Given the description of an element on the screen output the (x, y) to click on. 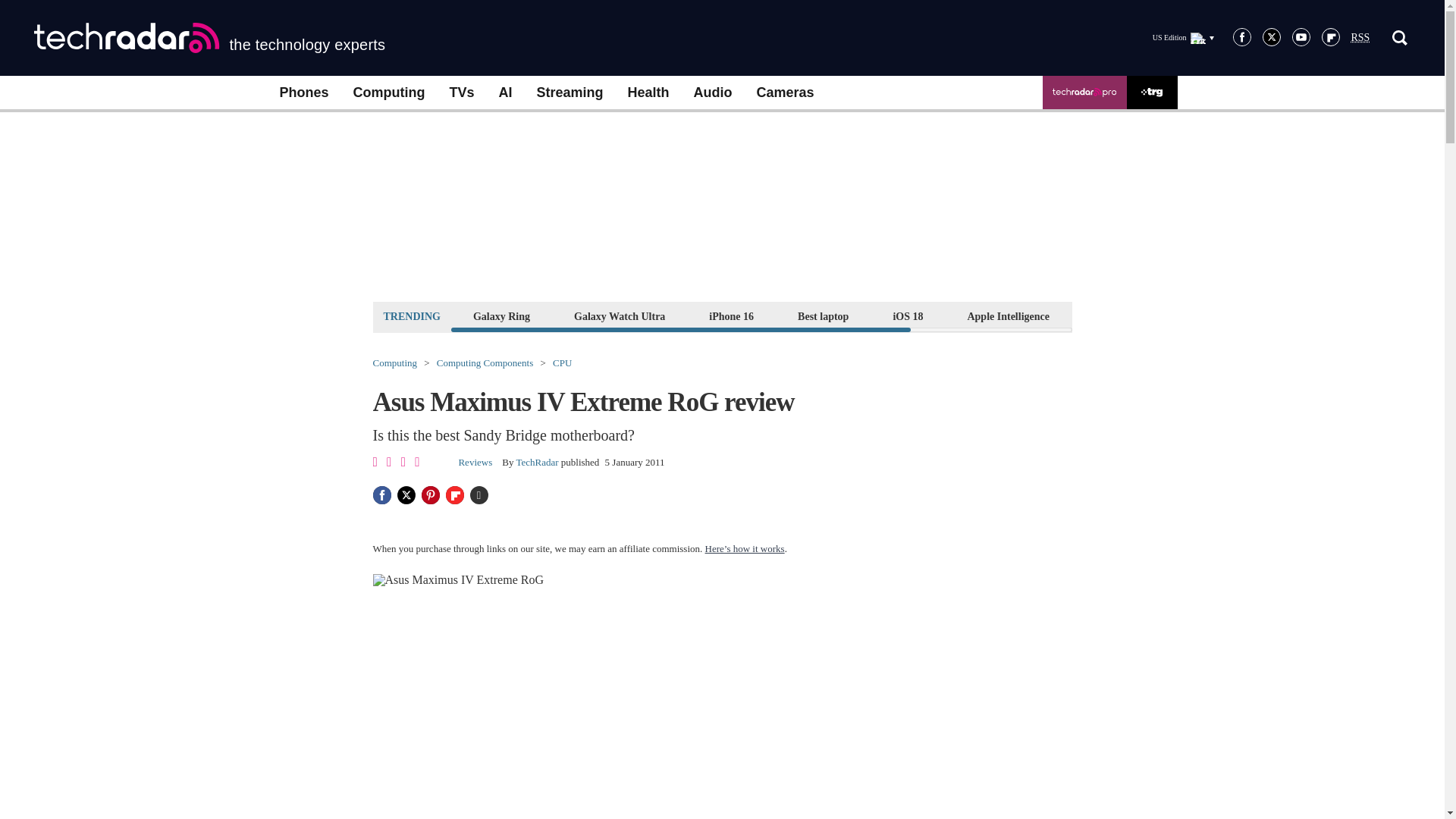
US Edition (1182, 37)
AI (505, 92)
Health (648, 92)
Really Simple Syndication (1360, 37)
Streaming (569, 92)
Phones (303, 92)
the technology experts (209, 38)
Cameras (785, 92)
Computing (389, 92)
TVs (461, 92)
